Given the description of an element on the screen output the (x, y) to click on. 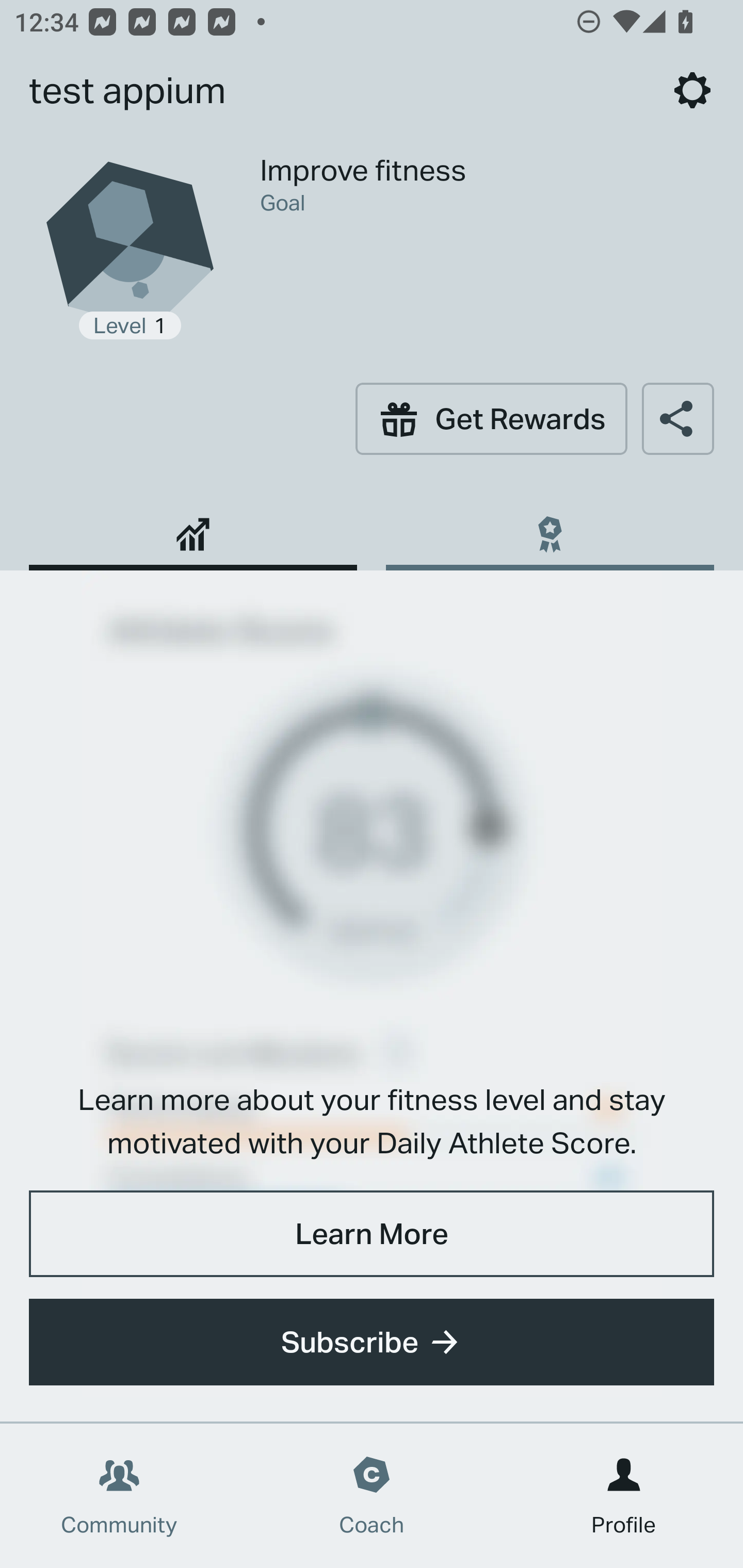
Settings (692, 90)
Get Rewards (491, 418)
Daily Athlete Score (192, 527)
Hall of Fame (549, 527)
Learn More (371, 1233)
Subscribe (371, 1342)
Community (119, 1495)
Coach (371, 1495)
